Given the description of an element on the screen output the (x, y) to click on. 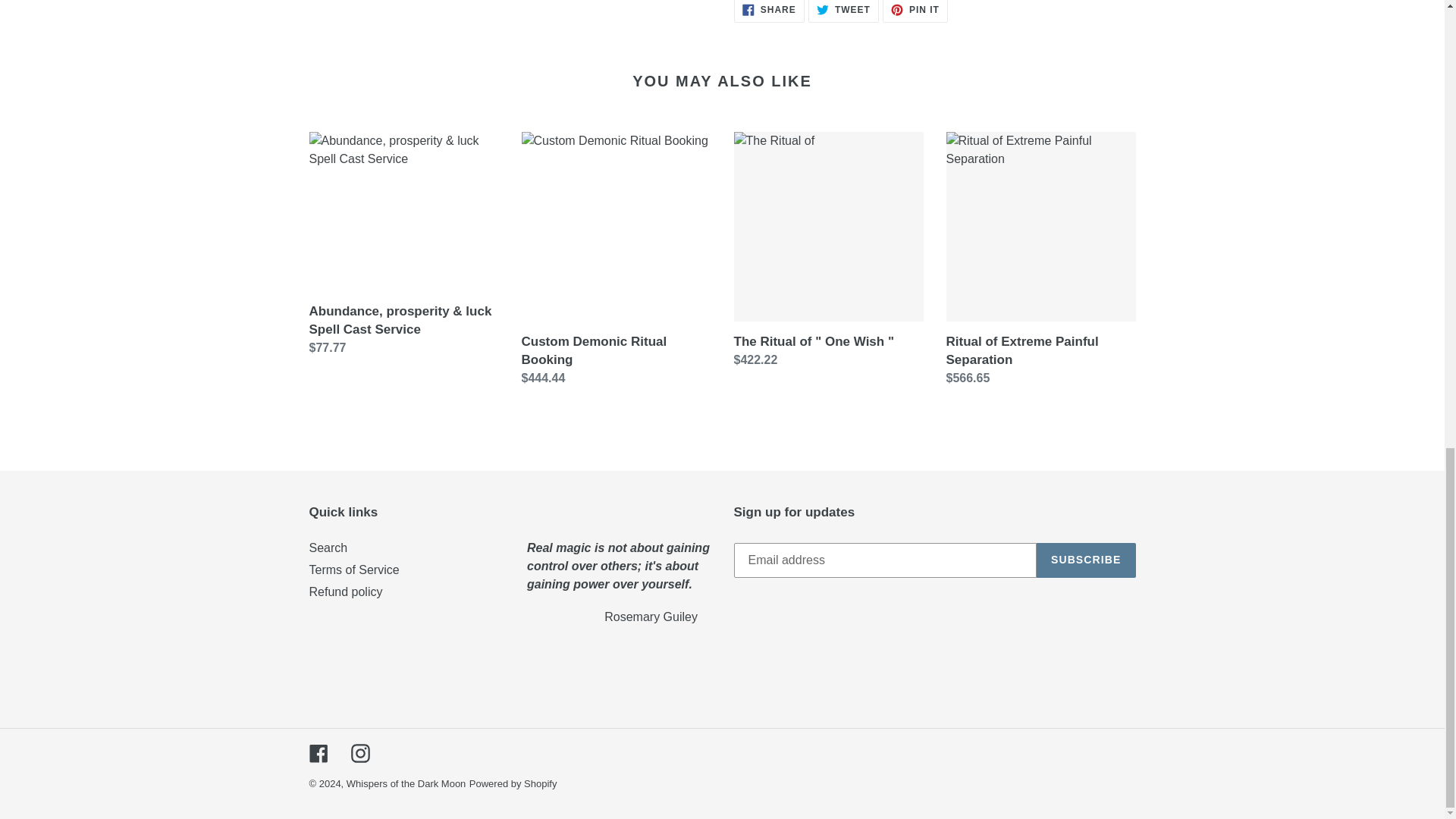
Terms of Service (769, 11)
Powered by Shopify (353, 569)
Refund policy (512, 783)
Whispers of the Dark Moon (843, 11)
Facebook (345, 591)
Instagram (405, 783)
Search (318, 752)
SUBSCRIBE (359, 752)
